Given the description of an element on the screen output the (x, y) to click on. 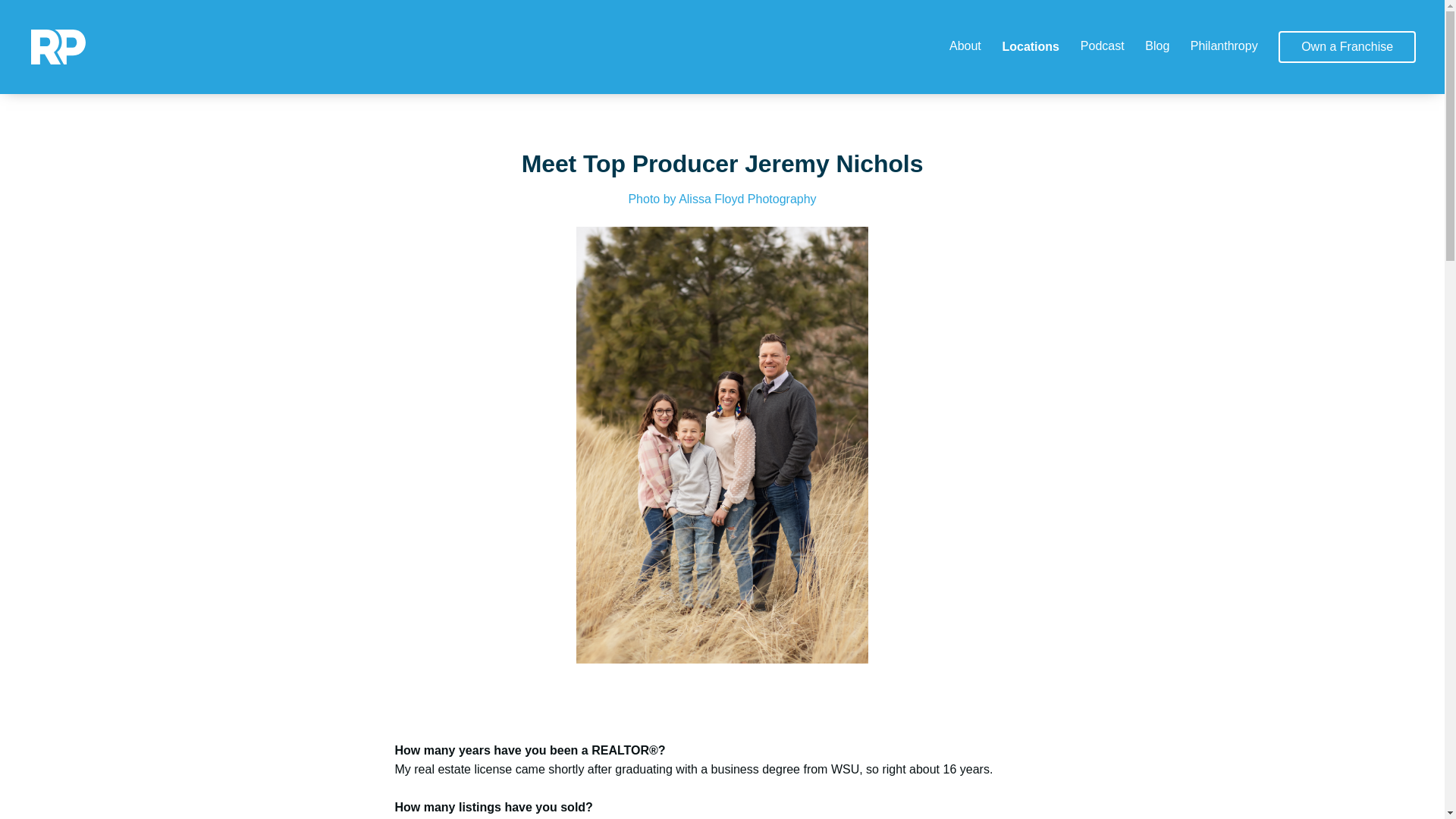
Podcast (1102, 46)
Locations (1030, 46)
Own a Franchise (1346, 47)
About (965, 46)
Philanthropy (1224, 46)
Blog (1156, 46)
